Given the description of an element on the screen output the (x, y) to click on. 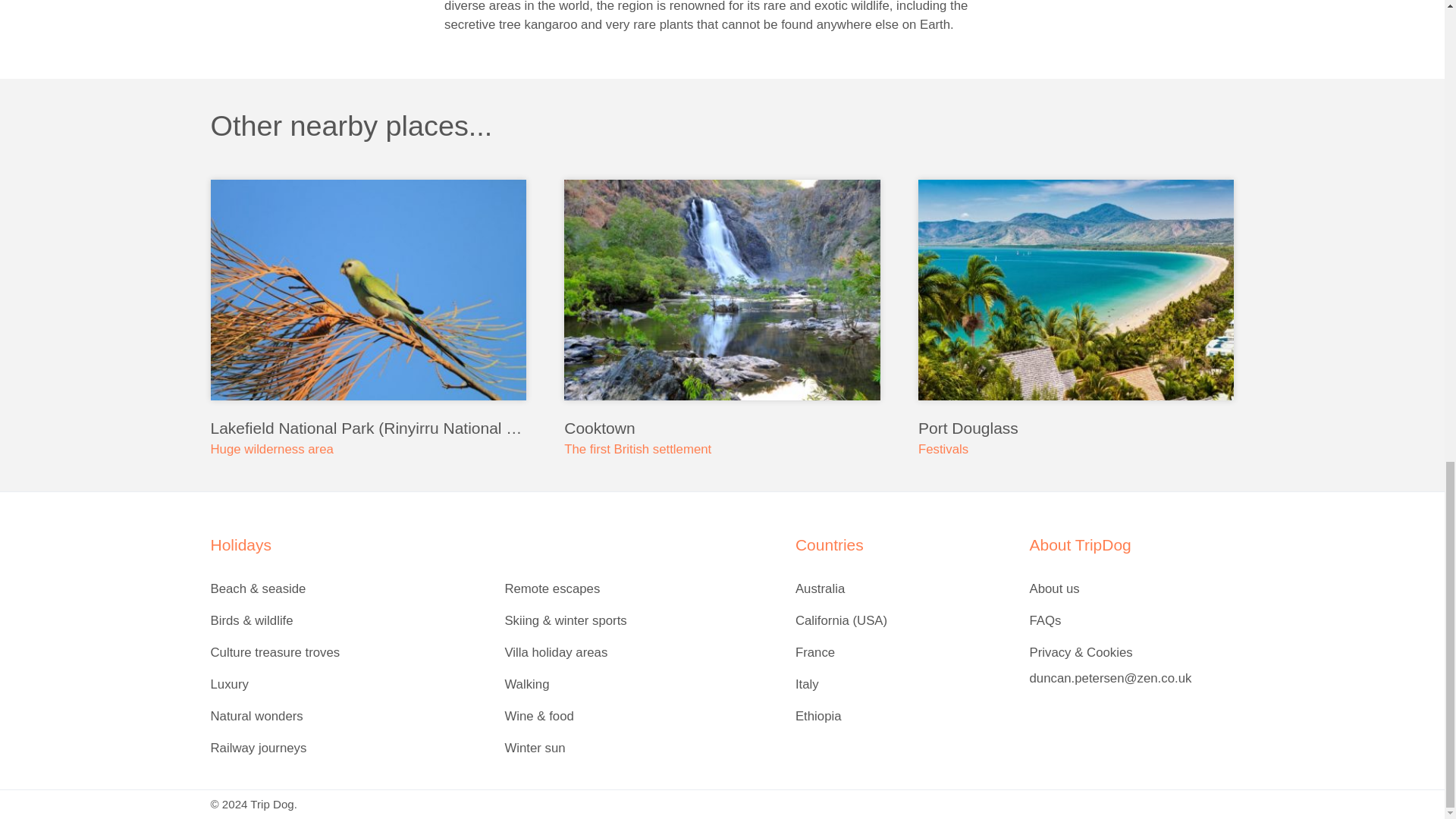
Culture treasure troves (351, 653)
Port Douglass (1075, 428)
Cooktown (721, 428)
